Given the description of an element on the screen output the (x, y) to click on. 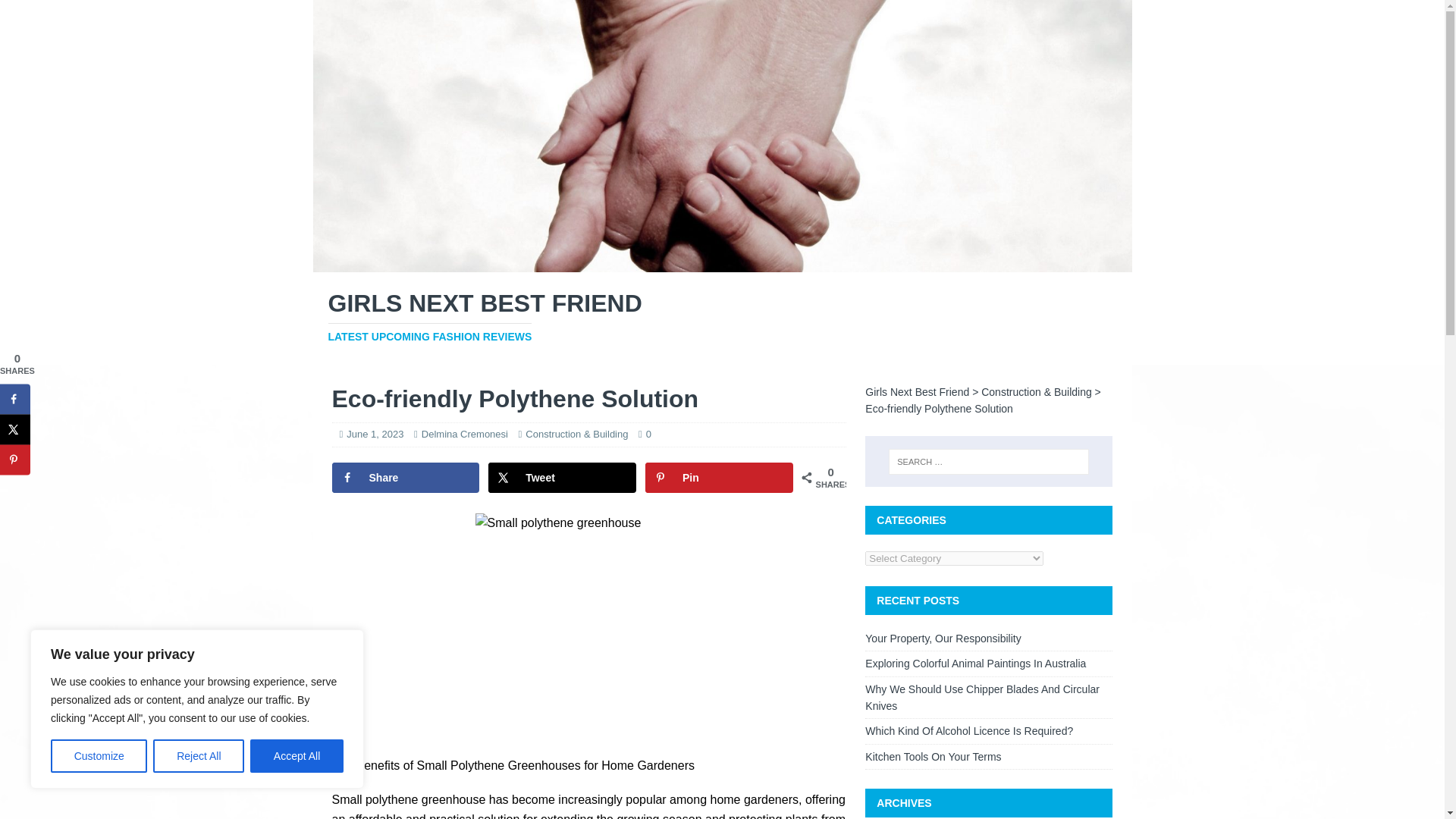
Customize (98, 756)
Small polythene greenhouse (589, 627)
Girls Next Best Friend  (722, 263)
Kitchen Tools On Your Terms (932, 756)
Save to Pinterest (15, 459)
Your Property, Our Responsibility (942, 638)
Why We Should Use Chipper Blades And Circular Knives (981, 697)
Delmina Cremonesi (465, 433)
Share on X (15, 429)
Search (56, 11)
